Given the description of an element on the screen output the (x, y) to click on. 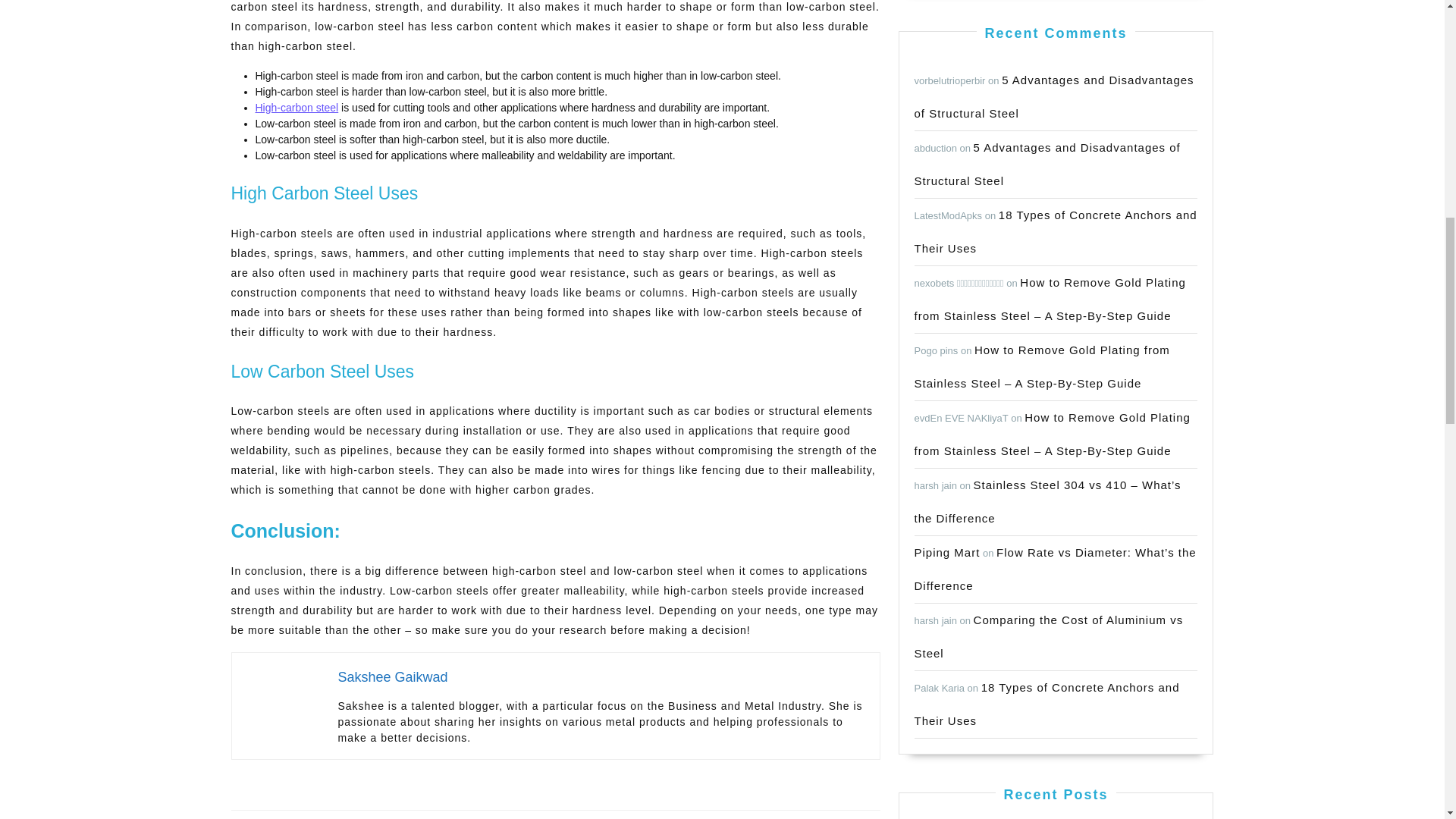
18 Types of Concrete Anchors and Their Uses (716, 800)
Sakshee Gaikwad (392, 800)
High-carbon steel (1055, 231)
5 Advantages and Disadvantages of Structural Steel (392, 676)
Piping Mart (295, 107)
5 Advantages and Disadvantages of Structural Steel (1053, 96)
